Given the description of an element on the screen output the (x, y) to click on. 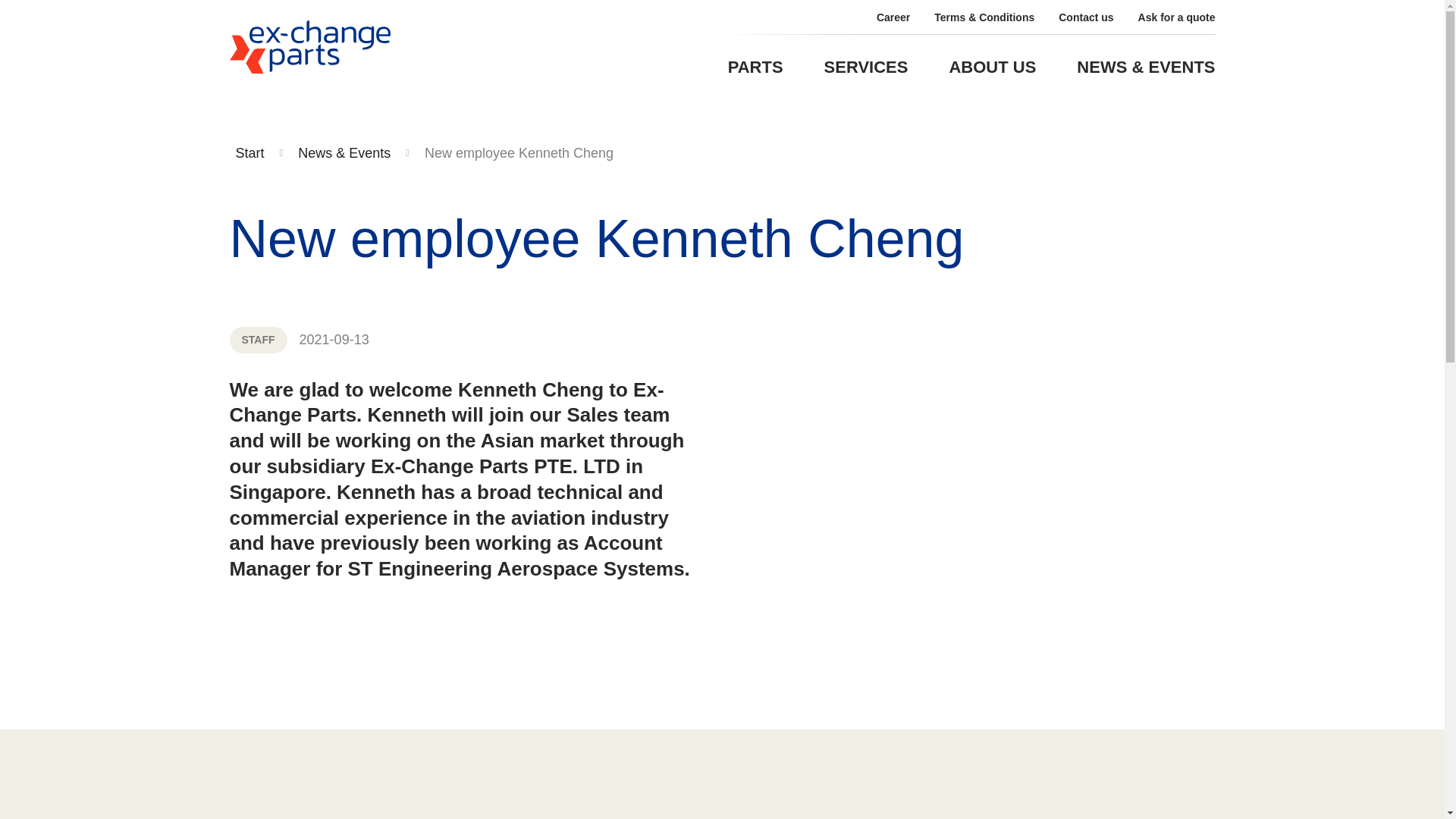
Career (893, 17)
Ask for a quote (1176, 17)
PARTS (755, 66)
ABOUT US (992, 66)
SERVICES (866, 66)
Contact us (1085, 17)
NVAA Hemsida (248, 153)
